Given the description of an element on the screen output the (x, y) to click on. 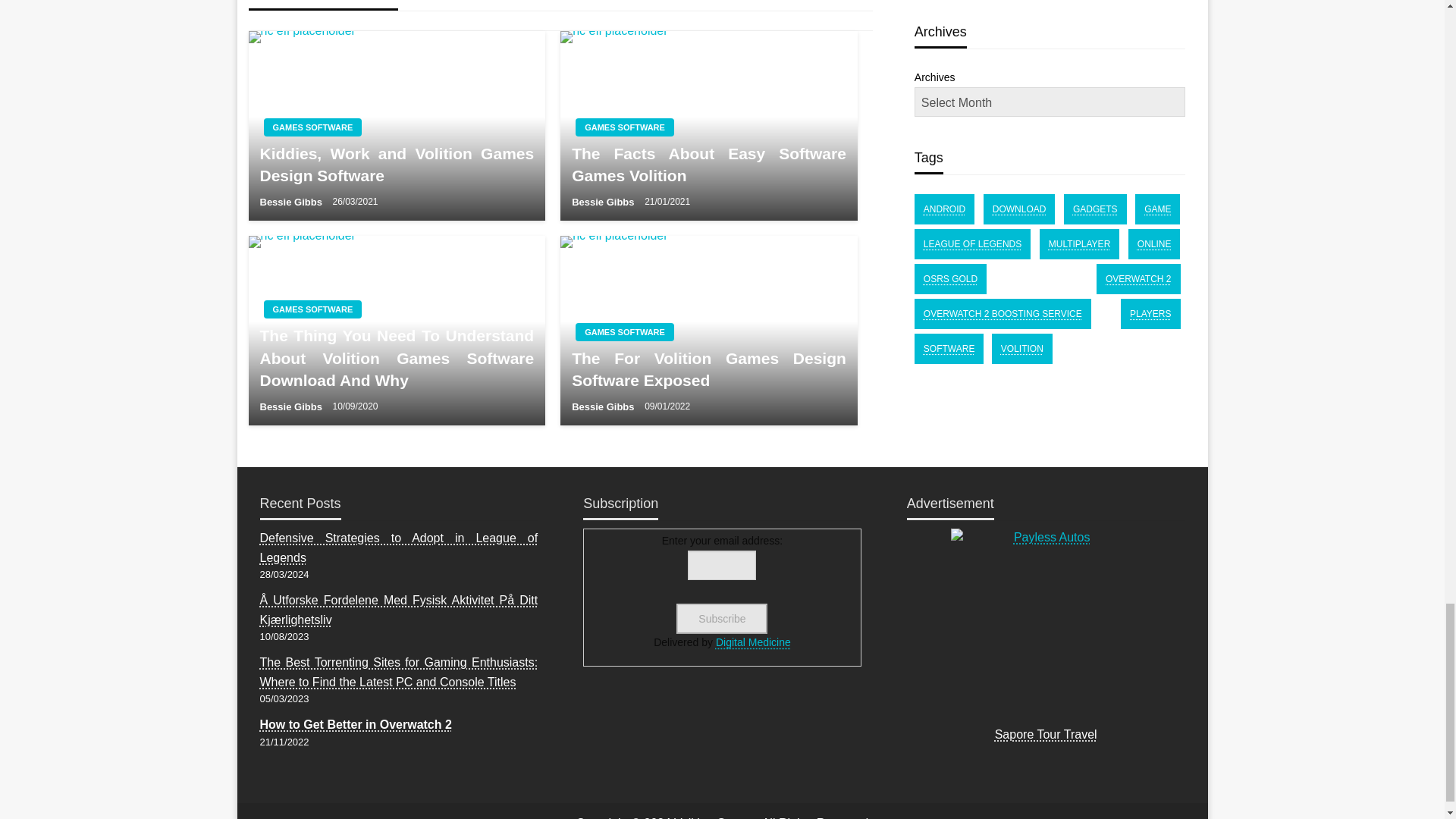
Kiddies, Work and Volition Games Design Software (397, 125)
GAMES SOFTWARE (624, 126)
The For Volition Games Design Software Exposed (708, 330)
GAMES SOFTWARE (312, 126)
Kiddies, Work and Volition Games Design Software (396, 164)
Subscribe (722, 618)
Payless Autos (1045, 623)
Bessie Gibbs (604, 202)
The Facts About Easy Software Games Volition (708, 164)
GAMES SOFTWARE (312, 309)
GAMES SOFTWARE (624, 331)
Bessie Gibbs (291, 202)
The Facts About Easy Software Games Volition (708, 125)
